Given the description of an element on the screen output the (x, y) to click on. 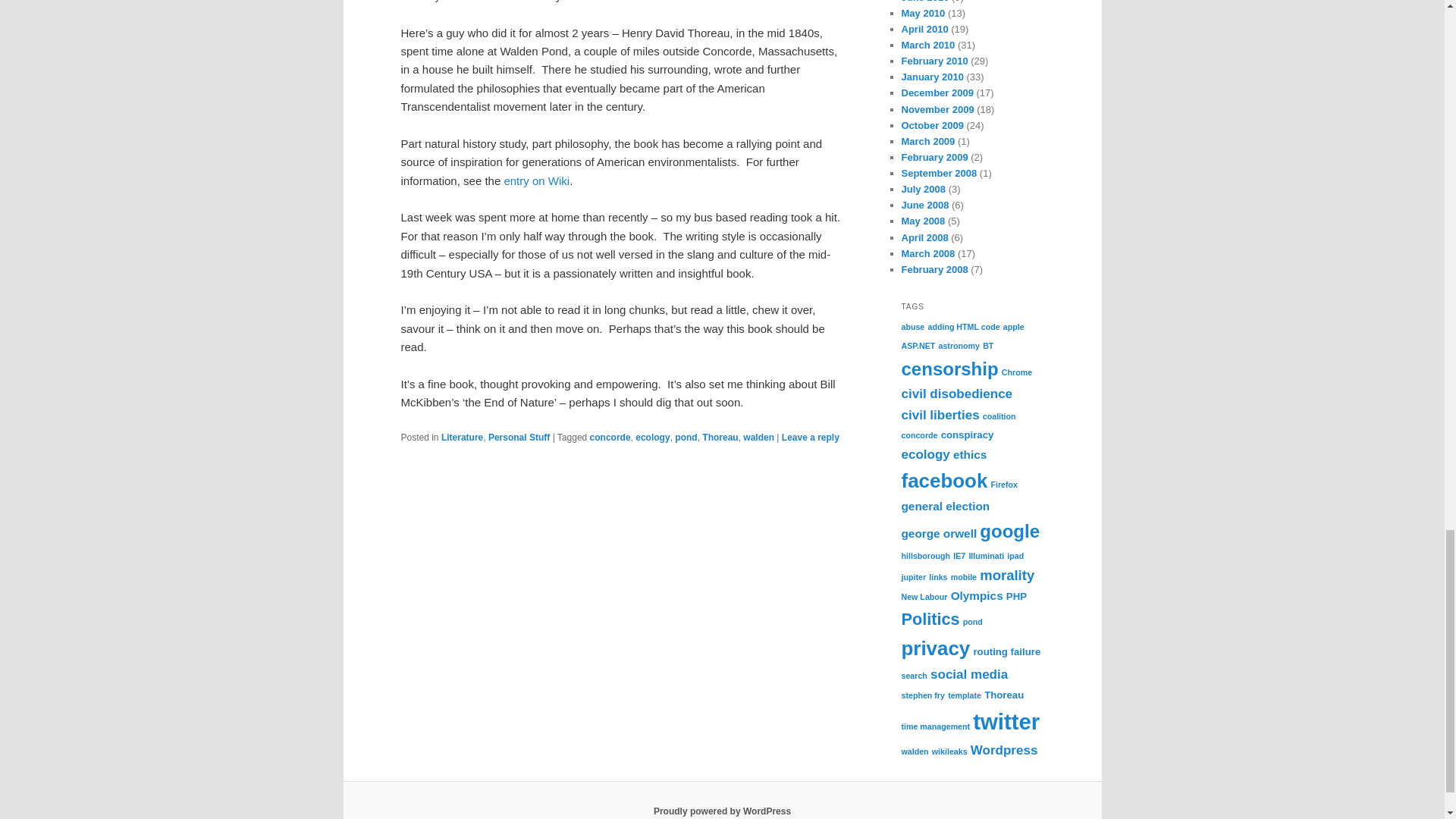
pond (686, 437)
Personal Stuff (518, 437)
Leave a reply (810, 437)
Thoreau (719, 437)
entry on Wiki (536, 180)
Semantic Personal Publishing Platform (721, 810)
concorde (609, 437)
walden (758, 437)
ecology (651, 437)
Literature (462, 437)
Walden Wiki entry (536, 180)
